Given the description of an element on the screen output the (x, y) to click on. 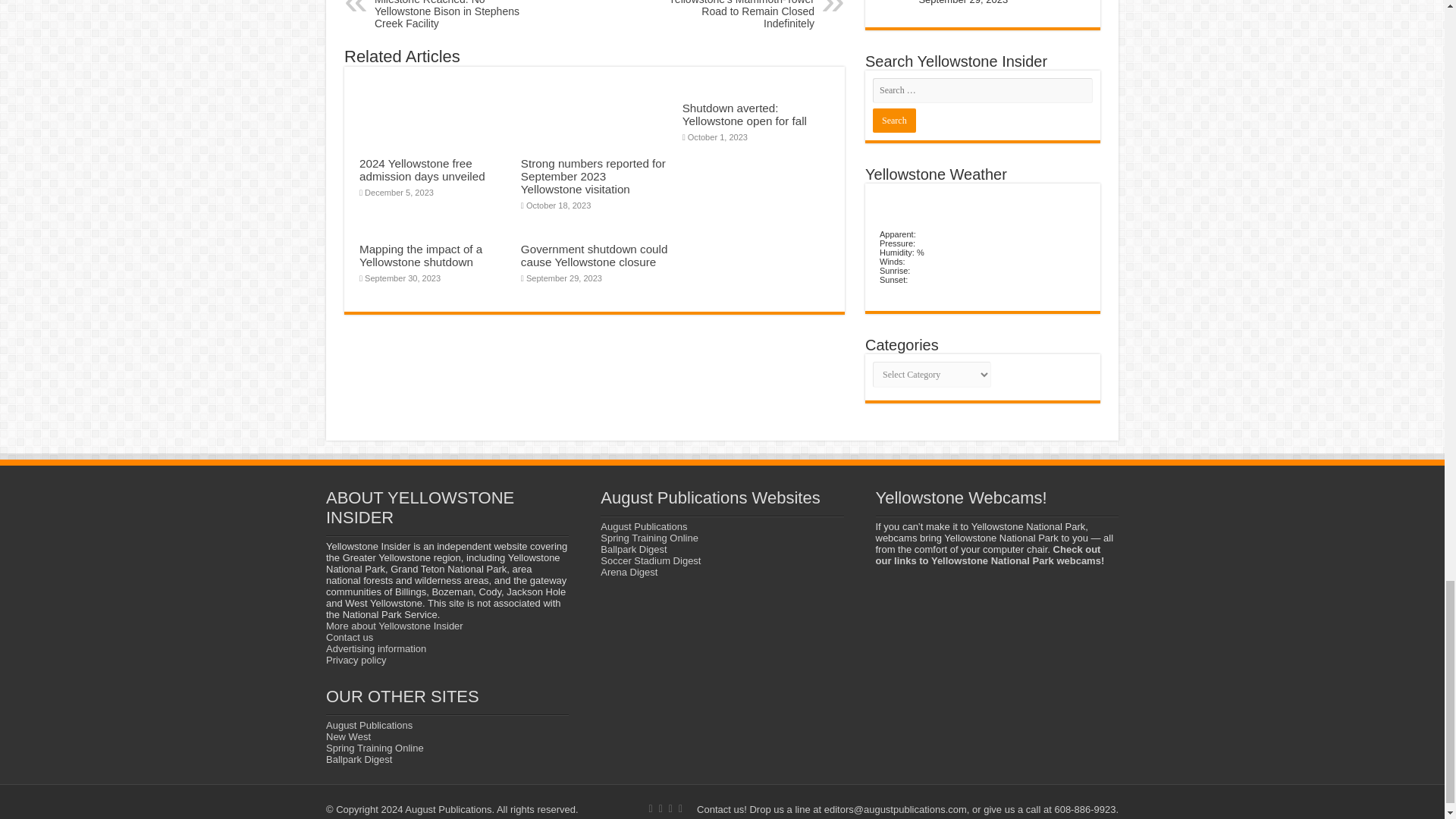
Search (893, 120)
Search (893, 120)
